Given the description of an element on the screen output the (x, y) to click on. 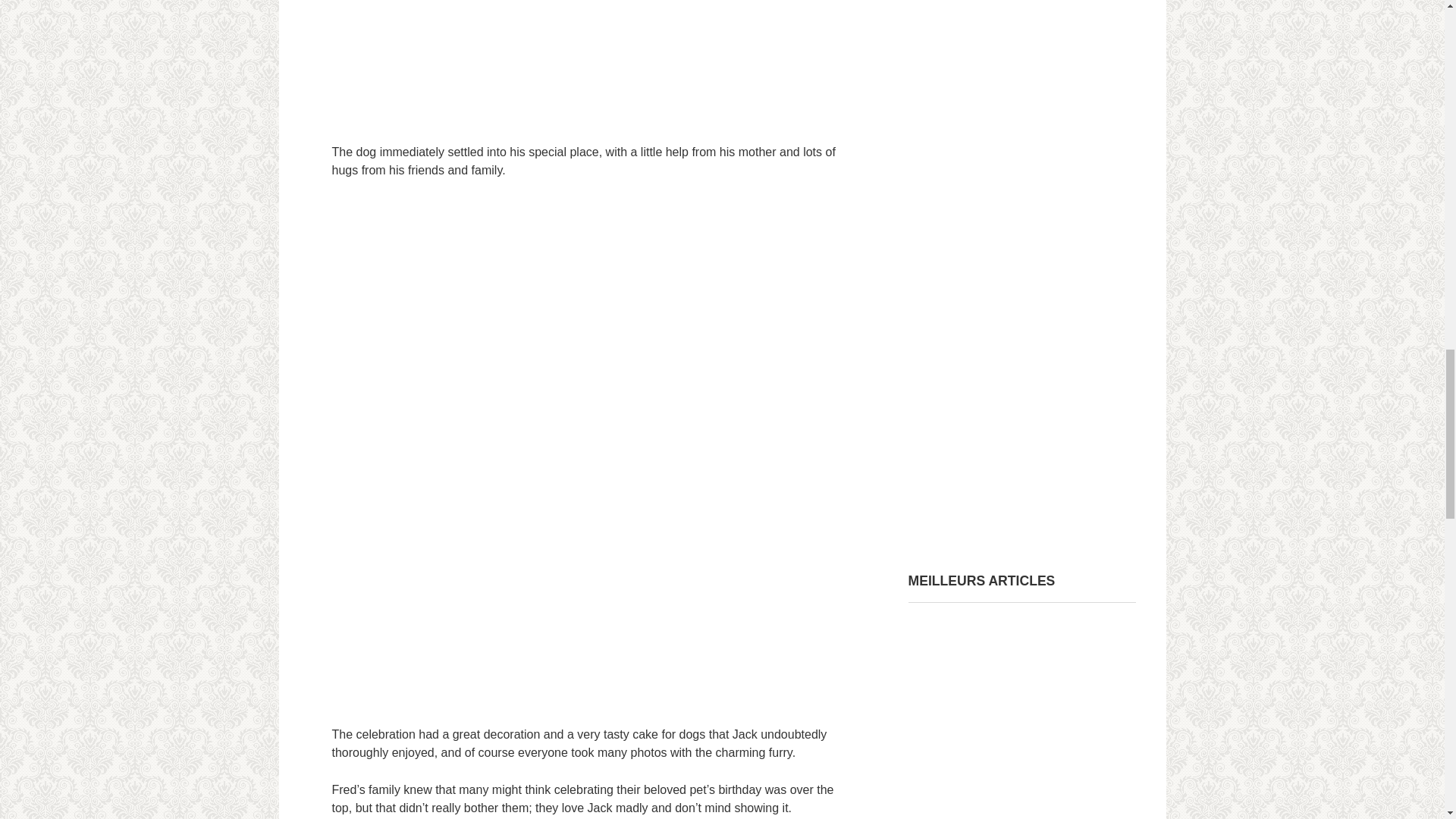
Advertisement (585, 62)
